Given the description of an element on the screen output the (x, y) to click on. 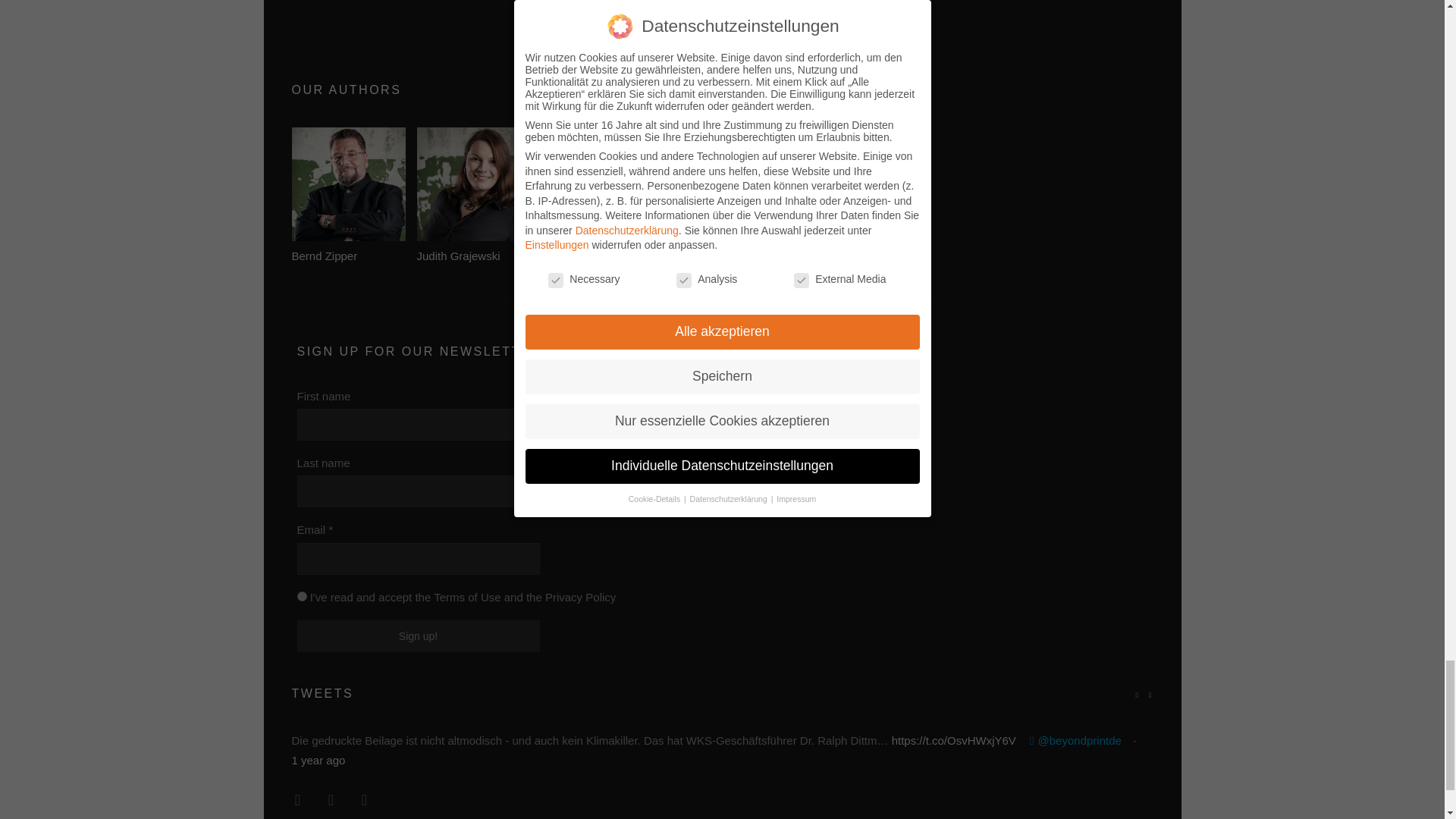
Sign up! (418, 635)
I've read and accept the Terms of Use and the Privacy Policy (302, 596)
